Given the description of an element on the screen output the (x, y) to click on. 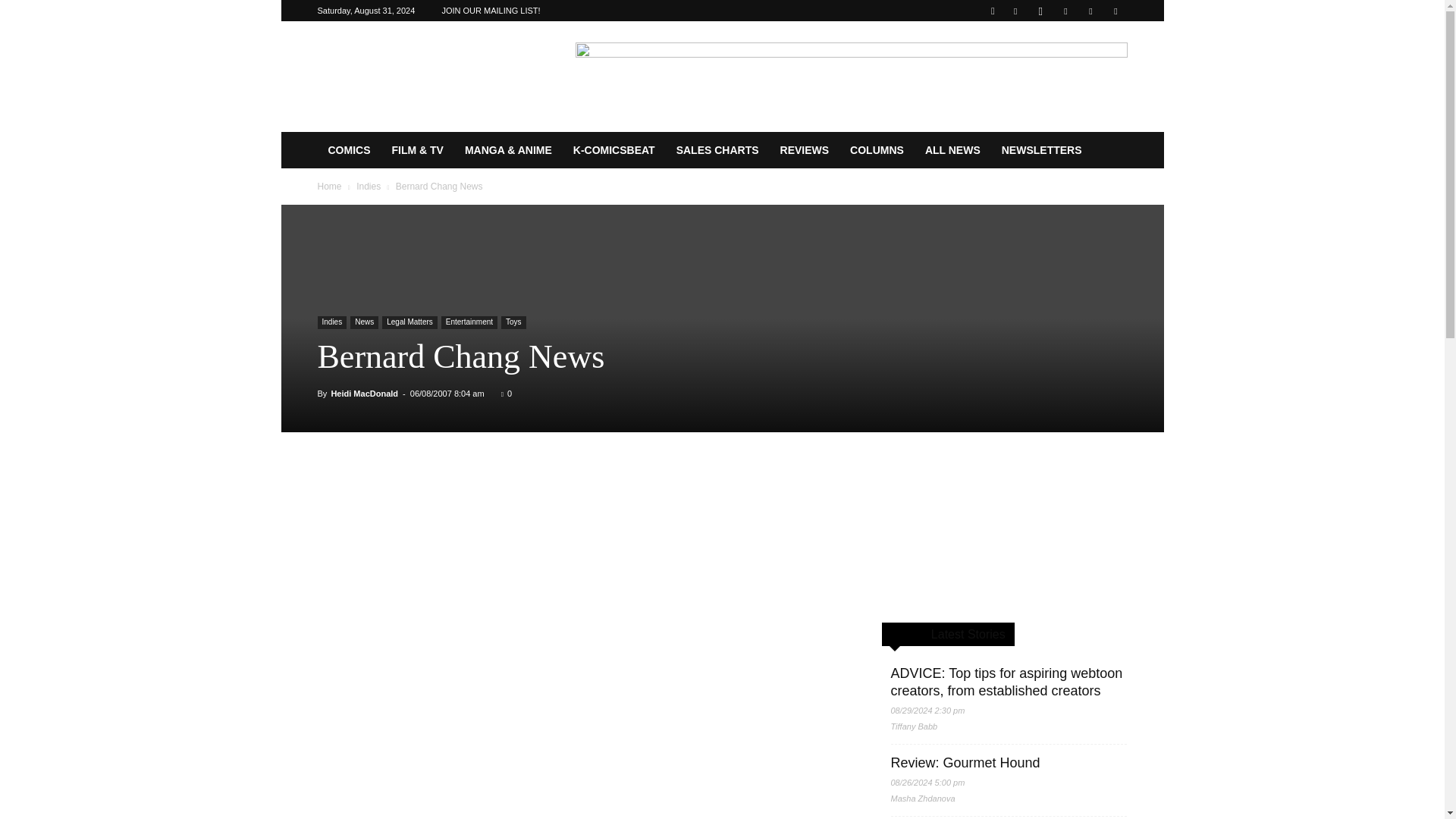
Search (1085, 64)
Youtube (1114, 10)
REVIEWS (805, 149)
RSS (1065, 10)
SALES CHARTS (717, 149)
Instagram (1040, 10)
COLUMNS (877, 149)
ALL NEWS (952, 149)
Twitter (1090, 10)
K-COMICSBEAT (613, 149)
